Given the description of an element on the screen output the (x, y) to click on. 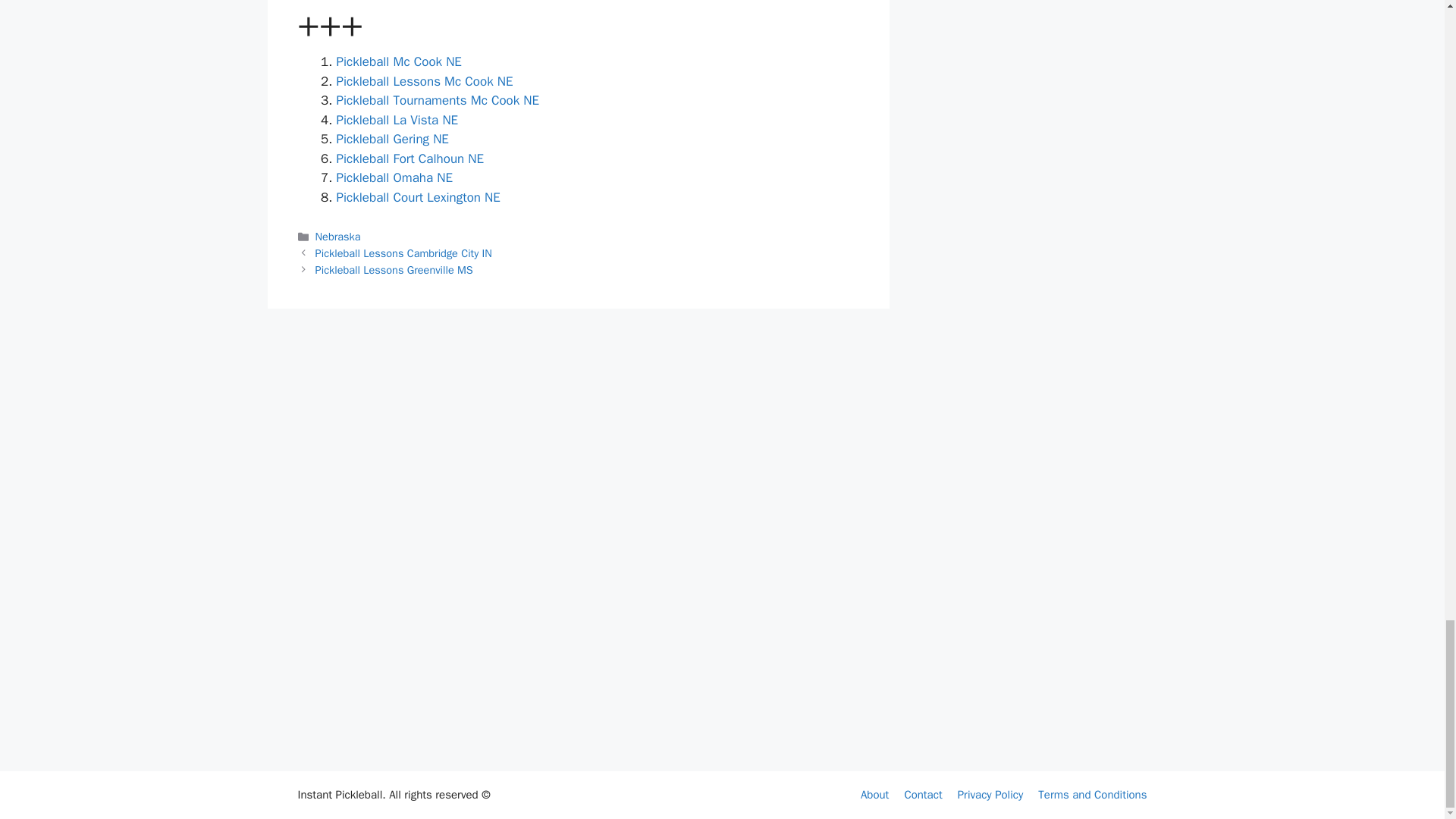
Pickleball Lessons Cambridge City IN (403, 253)
Pickleball Fort Calhoun NE (410, 158)
Pickleball Gering NE (392, 139)
Pickleball La Vista NE (397, 119)
Pickleball Court Lexington NE (418, 197)
Pickleball Lessons Greenville MS (394, 269)
Pickleball Tournaments Mc Cook NE (438, 100)
Pickleball Omaha NE (394, 177)
Pickleball La Vista NE (397, 119)
Pickleball Mc Cook NE (398, 61)
Pickleball Tournaments Mc Cook NE (438, 100)
Pickleball Mc Cook NE (398, 61)
Pickleball Lessons Mc Cook NE (424, 81)
Pickleball Lessons Mc Cook NE (424, 81)
Pickleball Omaha NE (394, 177)
